Given the description of an element on the screen output the (x, y) to click on. 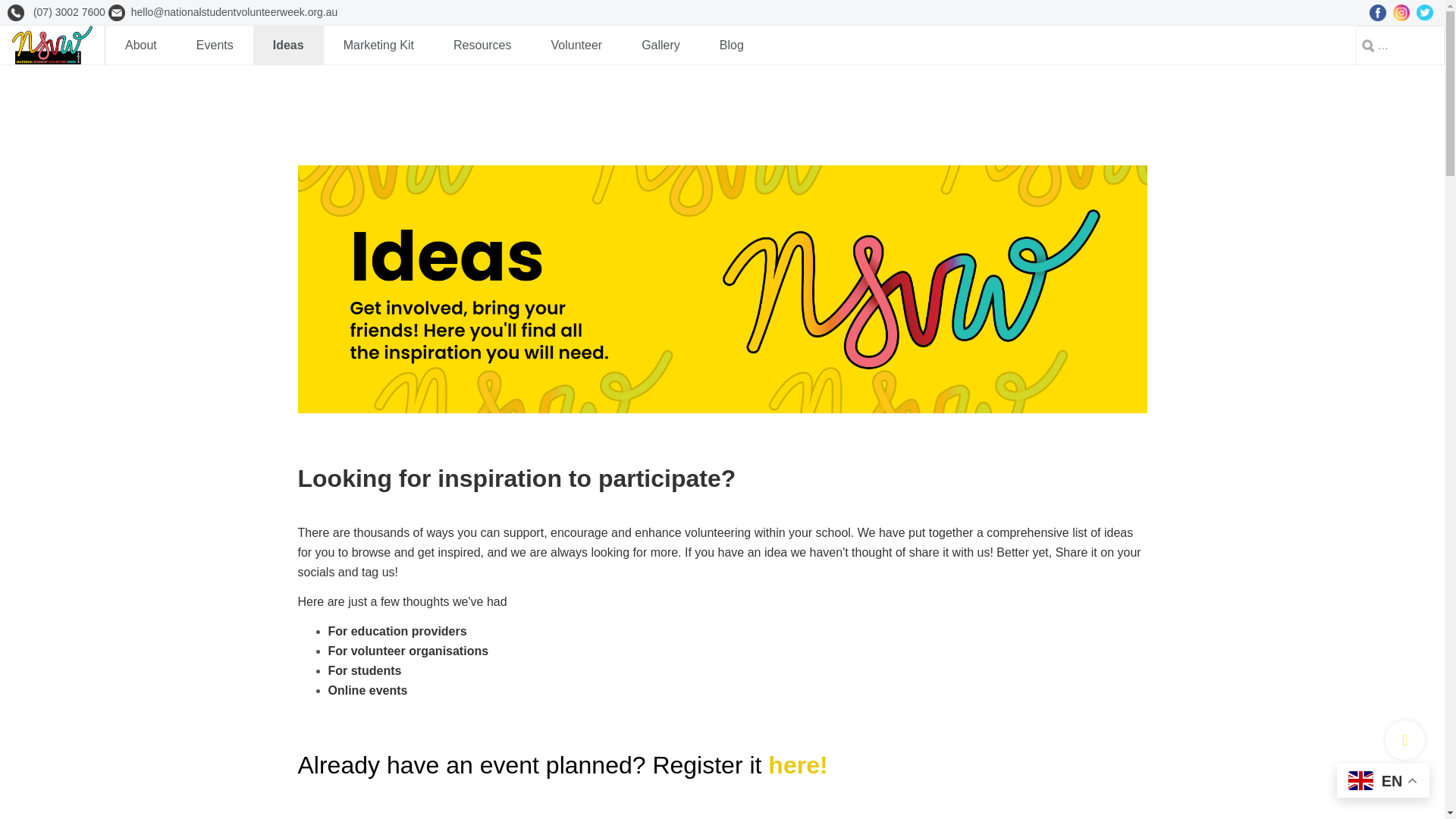
Marketing Kit (378, 45)
About (140, 45)
Resources (482, 45)
Gallery (660, 45)
Events (214, 45)
Blog (731, 45)
Online events (367, 689)
For education providers (396, 631)
Send us an email (234, 11)
For volunteer organisations (407, 650)
Ideas (288, 45)
here! (797, 764)
Back to Top (1405, 740)
For students (364, 670)
National Student Volunteer Week (52, 45)
